Given the description of an element on the screen output the (x, y) to click on. 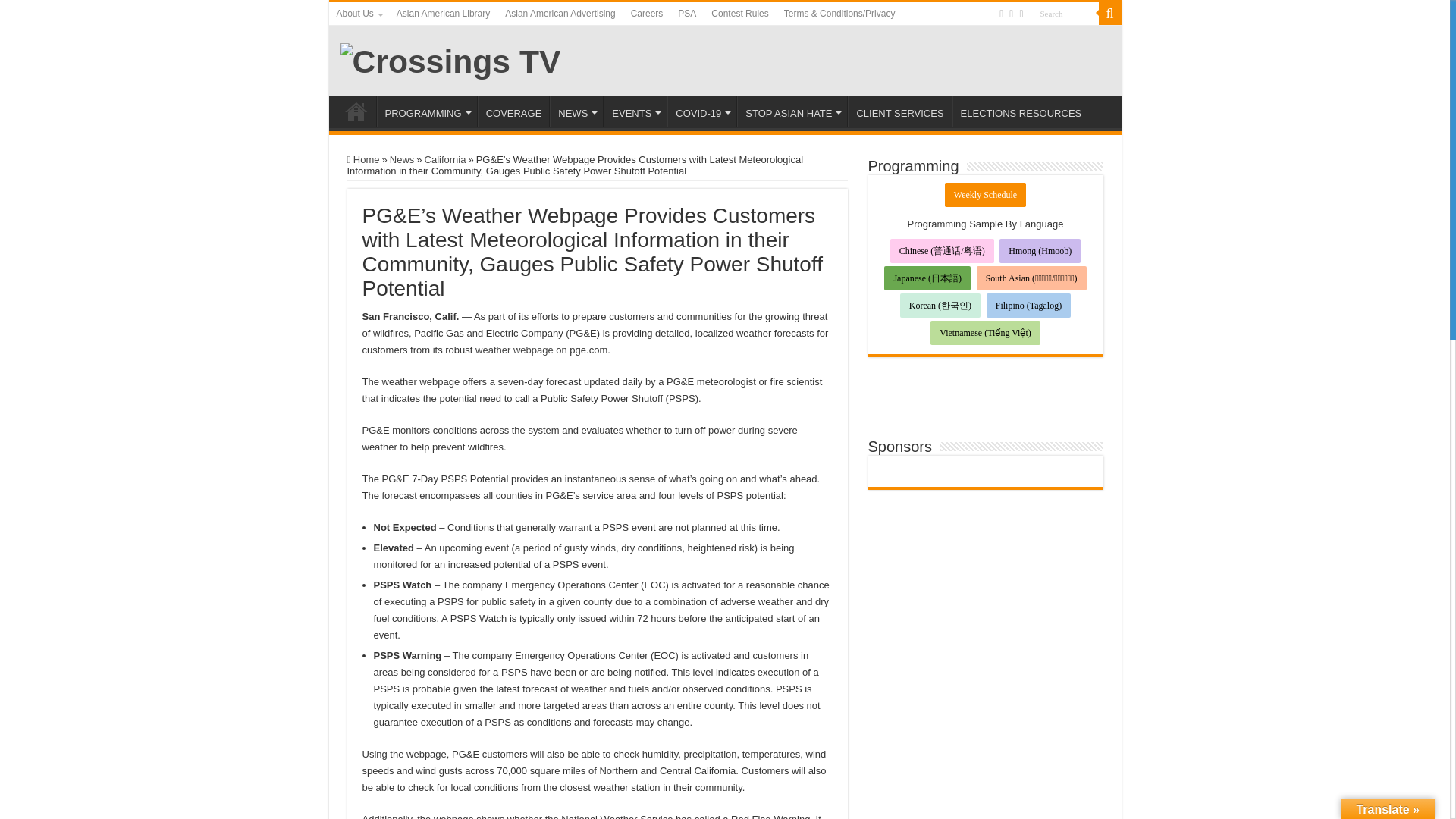
Search (1109, 13)
Search (1063, 13)
PSA (686, 13)
Careers (647, 13)
Contest Rules (739, 13)
NEWS (576, 111)
About Us (358, 13)
Asian American Advertising (560, 13)
PROGRAMMING (425, 111)
HOME (355, 111)
Search (1063, 13)
Asian American Library (442, 13)
Crossings TV (449, 58)
Search (1063, 13)
COVERAGE (513, 111)
